Given the description of an element on the screen output the (x, y) to click on. 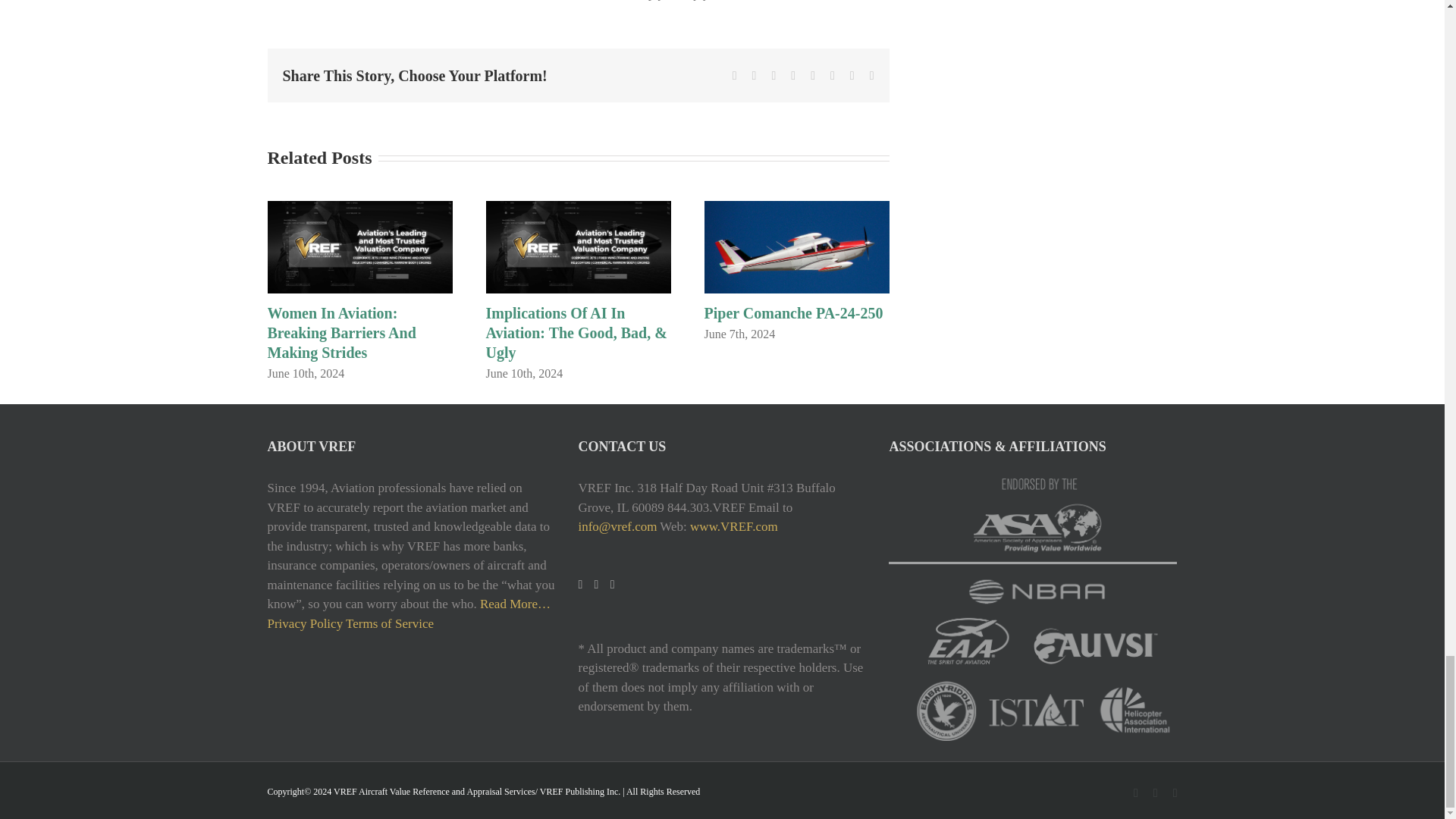
Women In Aviation: Breaking Barriers And Making Strides (340, 332)
Piper Comanche PA-24-250 (792, 312)
